Given the description of an element on the screen output the (x, y) to click on. 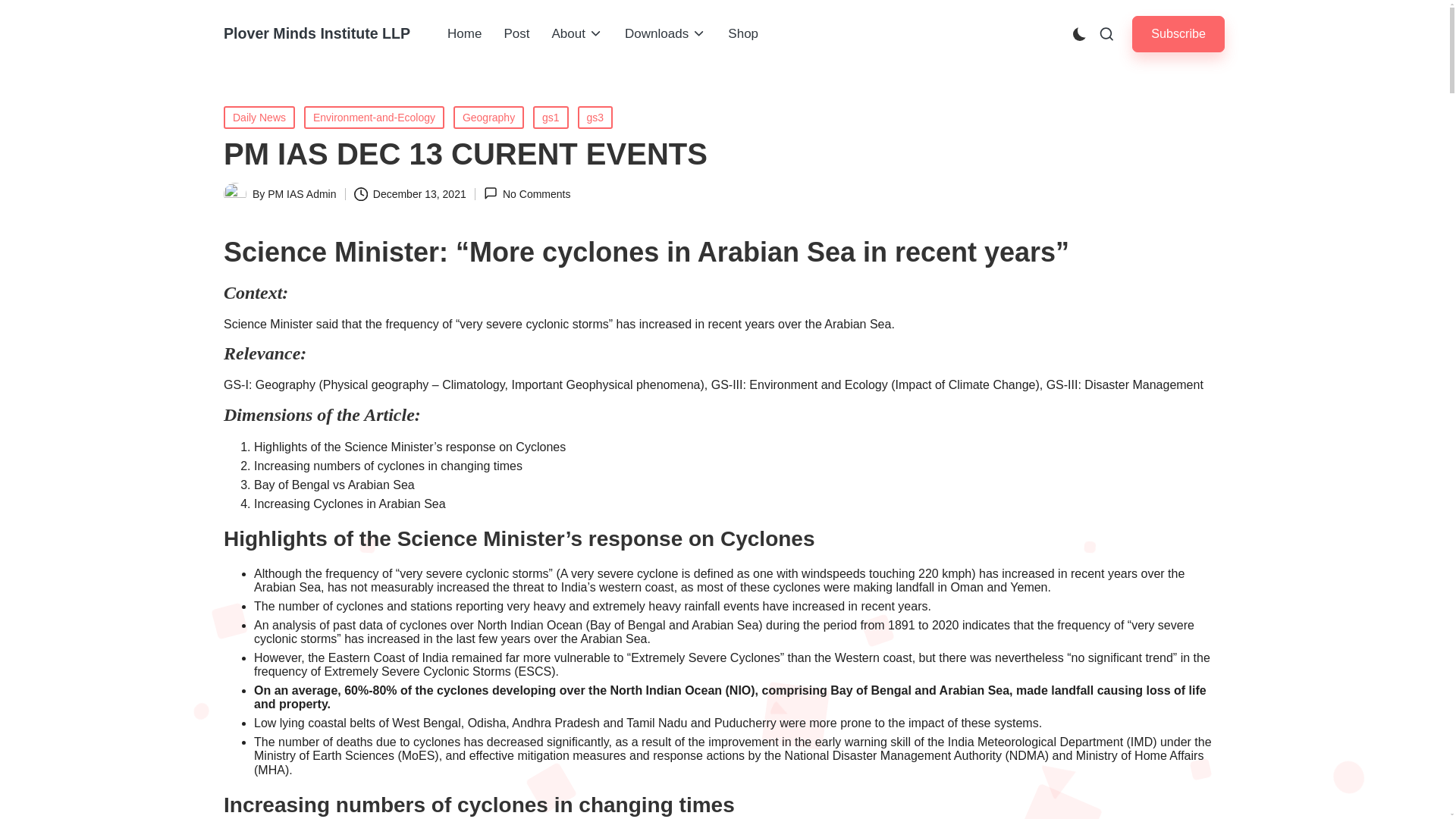
Shop (742, 34)
gs1 (550, 117)
Home (464, 34)
No Comments (526, 193)
Subscribe (1178, 33)
Daily News (259, 117)
About (576, 34)
PM IAS Admin (301, 193)
Plover Minds Institute LLP (317, 33)
Geography (488, 117)
